Given the description of an element on the screen output the (x, y) to click on. 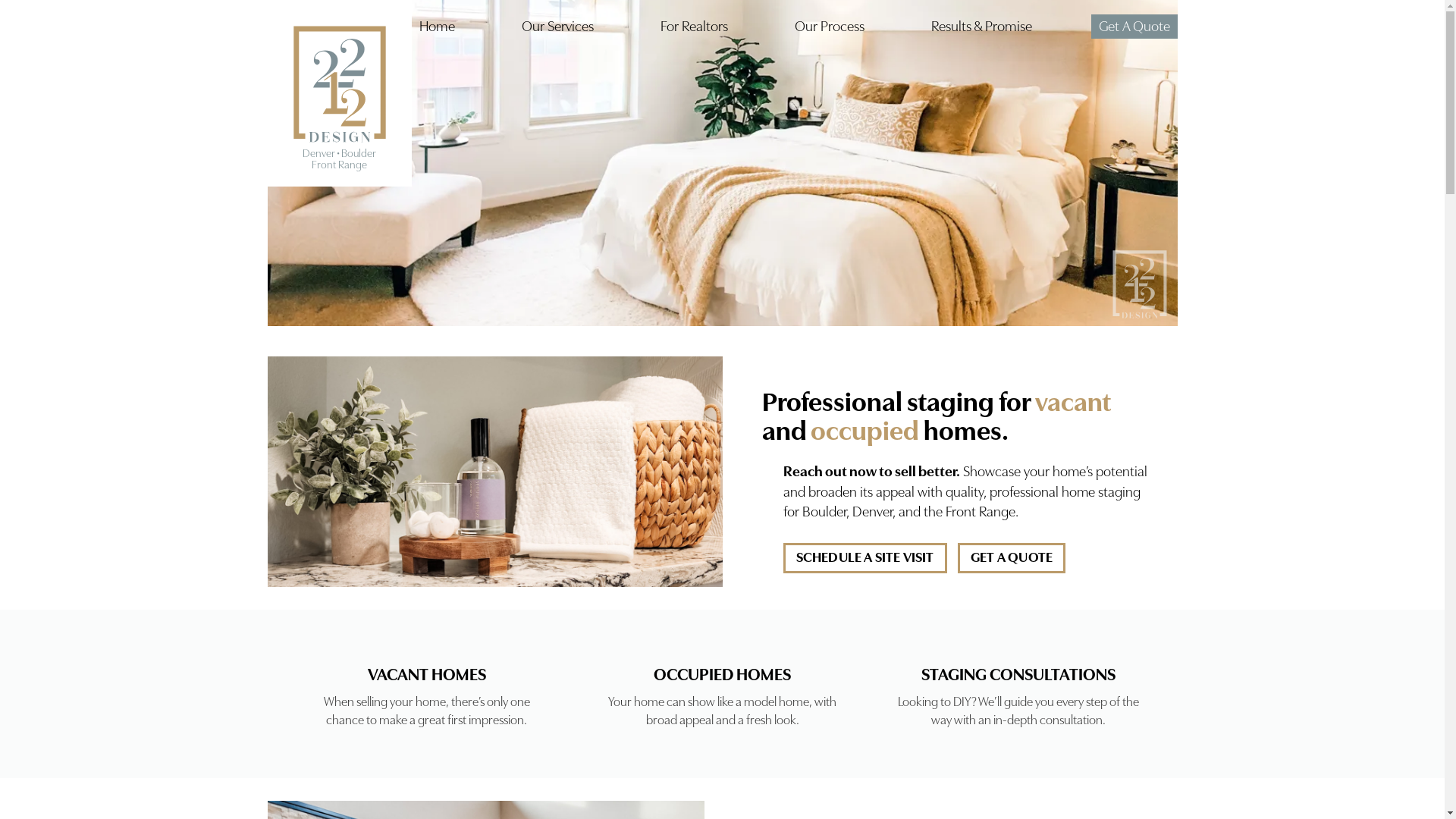
VACANT HOMES Element type: text (426, 672)
Our Process Element type: text (829, 26)
Results & Promise Element type: text (981, 26)
OCCUPIED HOMES Element type: text (721, 672)
For Realtors Element type: text (693, 26)
Get A Quote Element type: text (1133, 26)
STAGING CONSULTATIONS Element type: text (1017, 672)
GET A QUOTE Element type: text (1011, 557)
Home Element type: text (436, 26)
Our Services Element type: text (557, 26)
SCHEDULE A SITE VISIT Element type: text (864, 557)
